Given the description of an element on the screen output the (x, y) to click on. 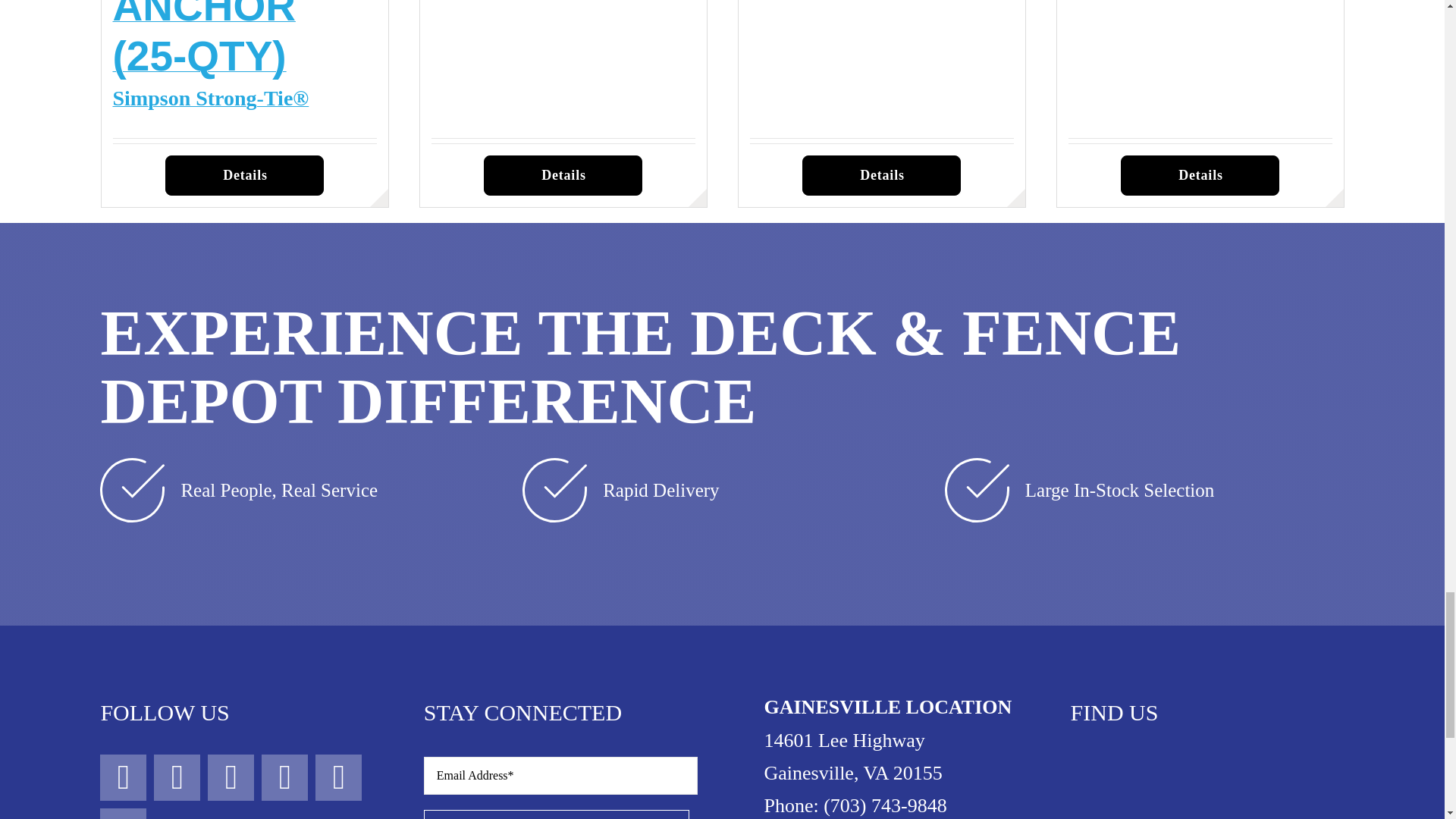
Tiktok (284, 777)
Facebook (123, 777)
Twitter (230, 777)
Pinterest (338, 777)
Instagram (177, 777)
SIGN UP (560, 786)
LinkedIn (123, 813)
